Given the description of an element on the screen output the (x, y) to click on. 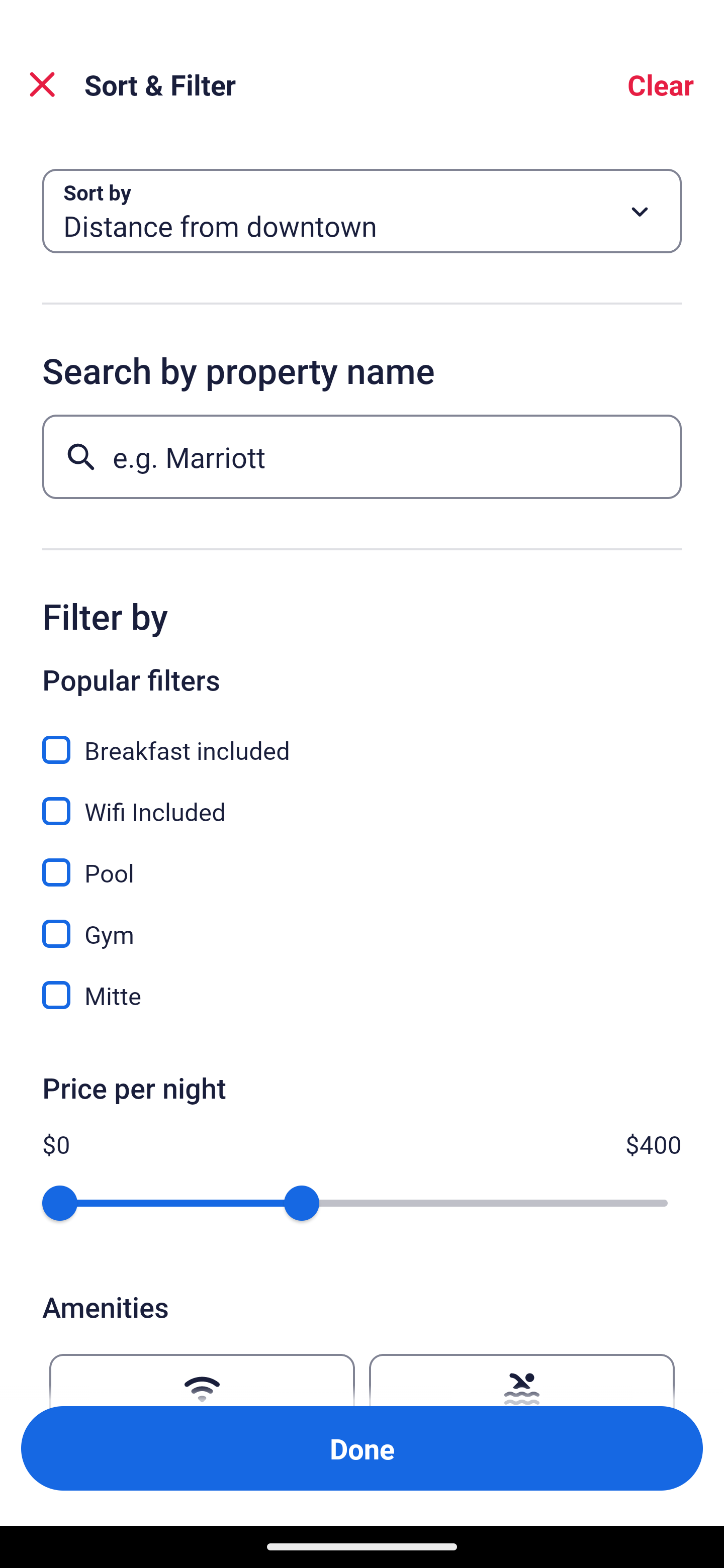
Close Sort and Filter (42, 84)
Clear (660, 84)
Sort by Button Distance from downtown (361, 211)
e.g. Marriott Button (361, 455)
Breakfast included, Breakfast included (361, 738)
Wifi Included, Wifi Included (361, 800)
Pool, Pool (361, 861)
Gym, Gym (361, 922)
Mitte, Mitte (361, 995)
Apply and close Sort and Filter Done (361, 1448)
